Given the description of an element on the screen output the (x, y) to click on. 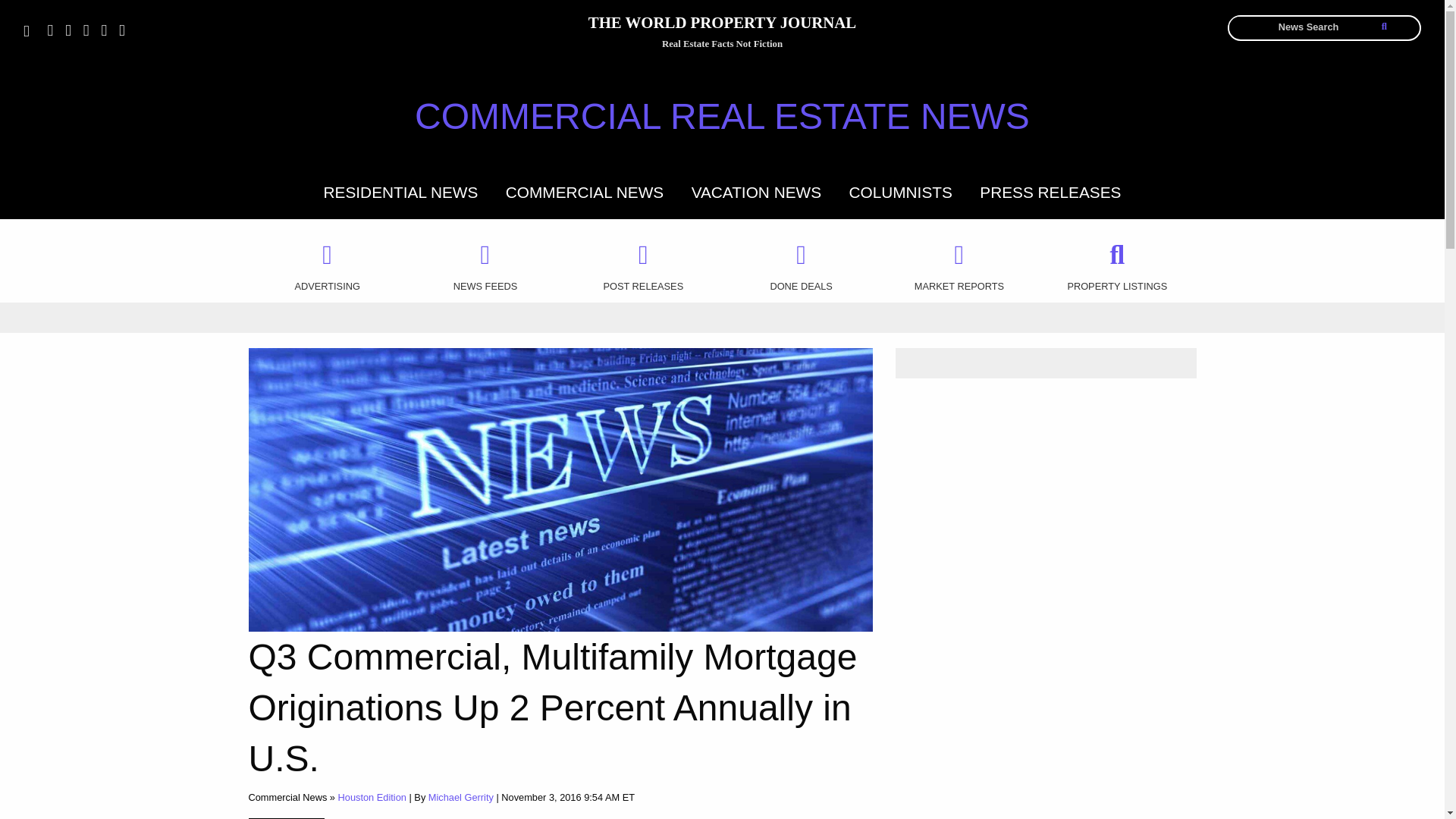
THE WORLD PROPERTY JOURNAL (721, 25)
RESIDENTIAL NEWS (401, 191)
PRESS RELEASES (1050, 191)
VACATION NEWS (756, 191)
COMMERCIAL NEWS (584, 191)
COLUMNISTS (900, 191)
